Given the description of an element on the screen output the (x, y) to click on. 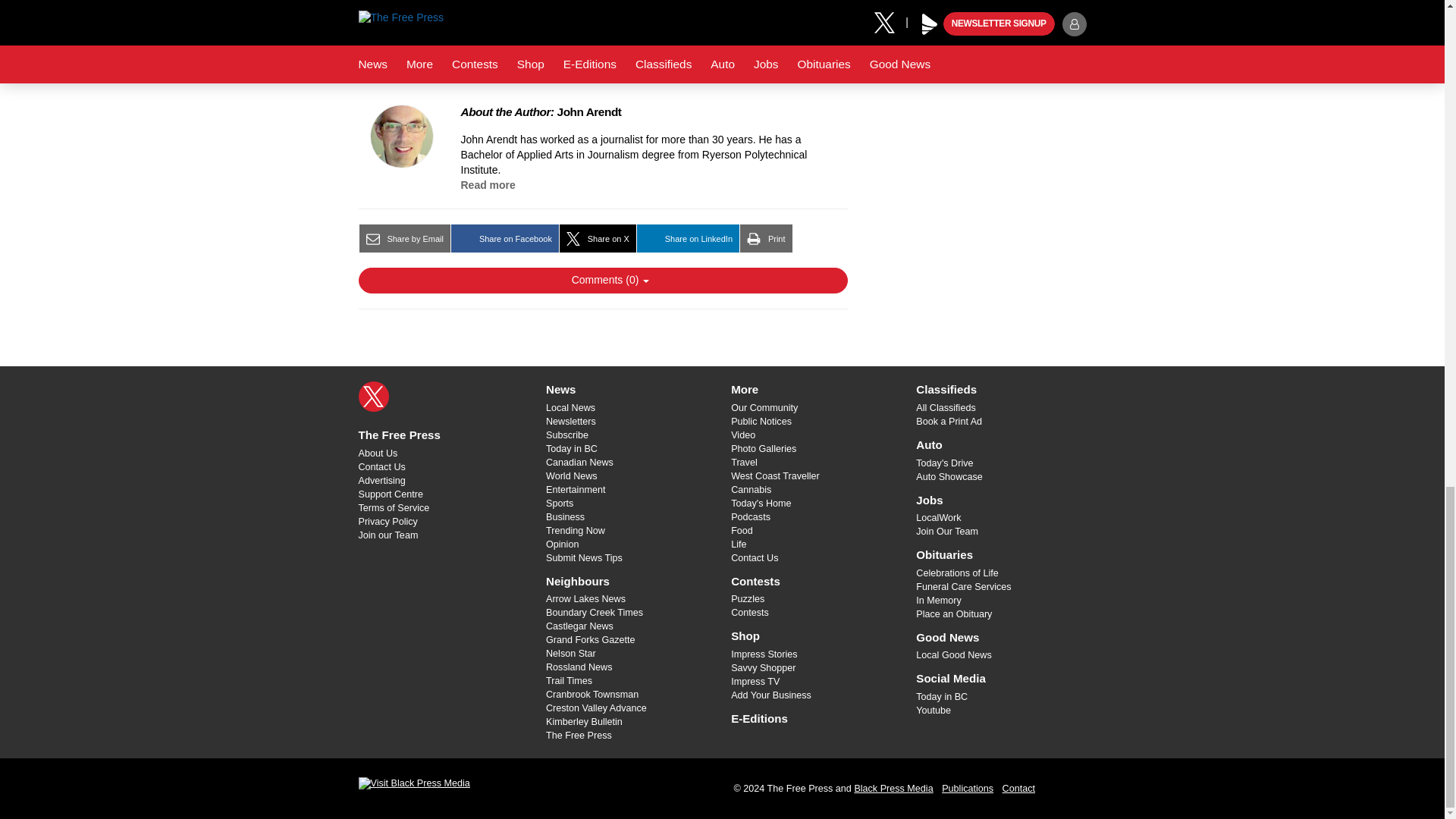
Show Comments (602, 280)
X (373, 396)
